Given the description of an element on the screen output the (x, y) to click on. 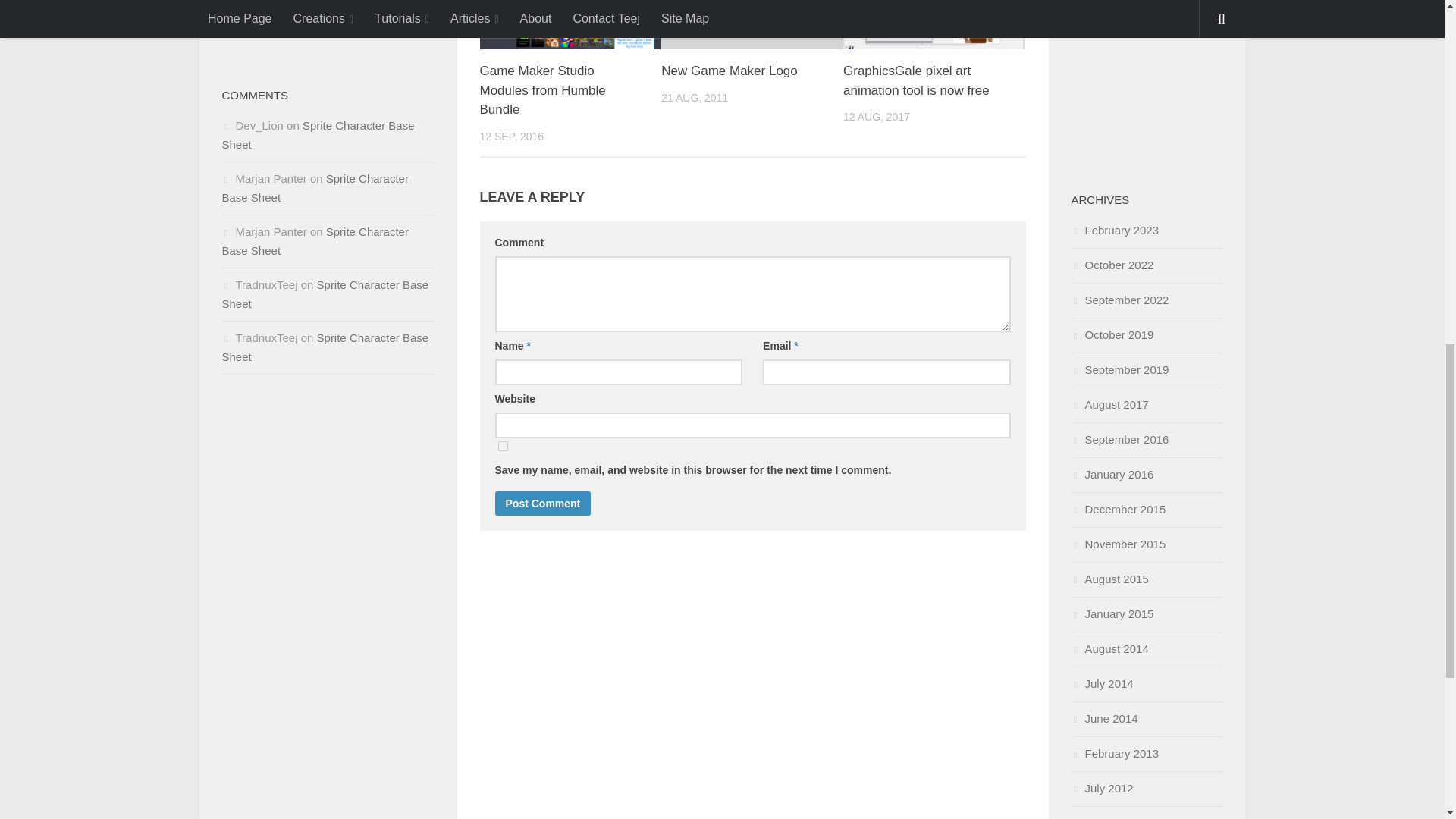
yes (501, 446)
New Game Maker Logo (729, 70)
Post Comment (543, 503)
GraphicsGale pixel art animation tool is now free (916, 80)
Game Maker Studio Modules from Humble Bundle (542, 90)
Game Maker Studio Modules from Humble Bundle (570, 24)
New Game Maker Logo (729, 70)
Advertisement (1146, 76)
Game Maker Studio Modules from Humble Bundle (542, 90)
New Game Maker Logo (752, 24)
GraphicsGale pixel art animation tool is now free (916, 80)
GraphicsGale pixel art animation tool is now free (934, 24)
Post Comment (543, 503)
